Given the description of an element on the screen output the (x, y) to click on. 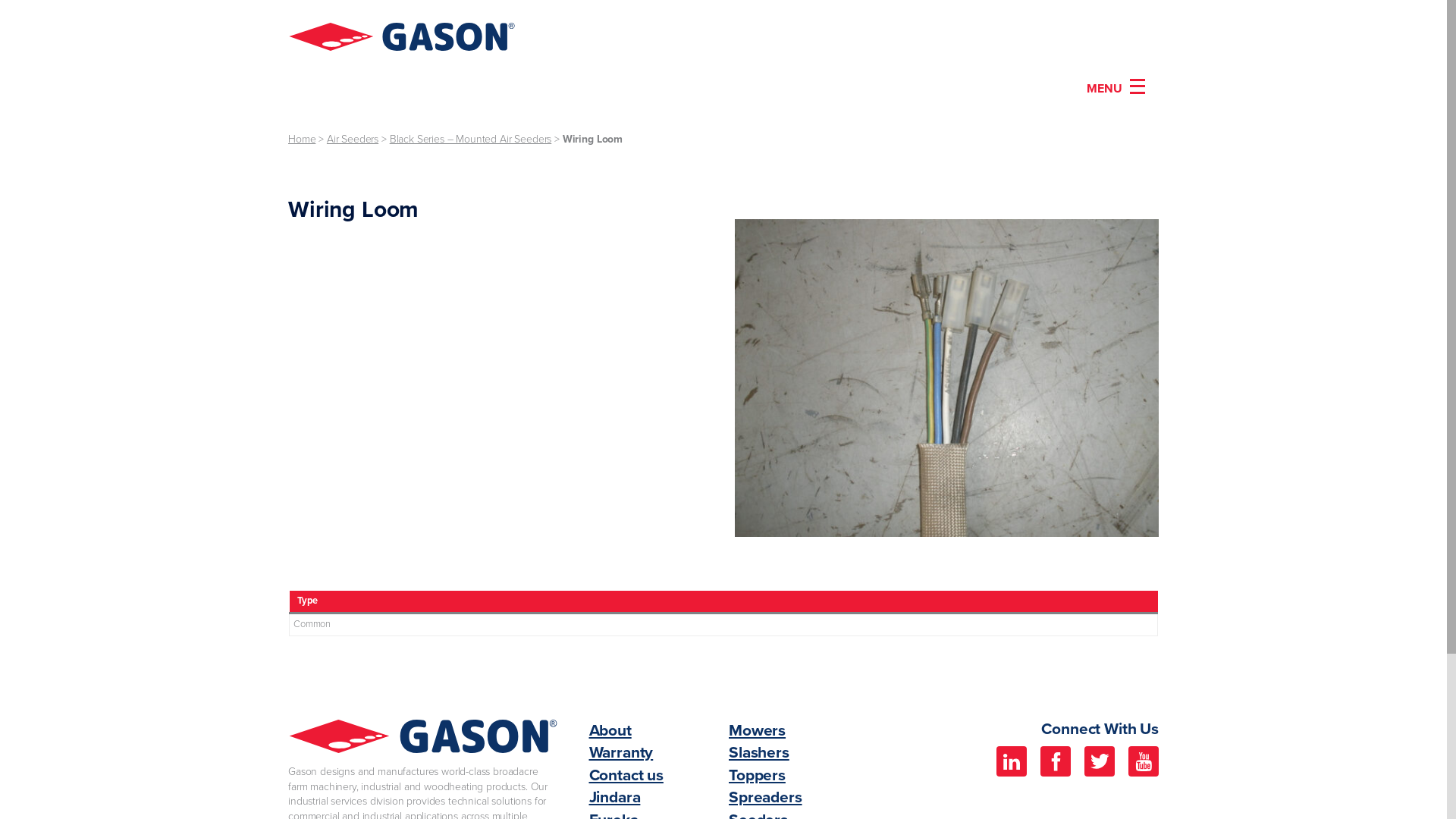
Spreaders Element type: text (765, 796)
Jindara Element type: text (614, 796)
Toppers Element type: text (756, 774)
Warranty Element type: text (620, 752)
WIRING LOOM Element type: hover (946, 377)
Follow us on Twitter Element type: hover (1099, 761)
Follow us on Linked In Element type: hover (1011, 761)
Like us on Facebook Element type: hover (1055, 761)
Home Element type: text (301, 138)
About Element type: text (609, 730)
Air Seeders Element type: text (352, 138)
MENU Element type: text (1115, 87)
Slashers Element type: text (758, 752)
Subscribe to our YouTube Channel Element type: hover (1143, 761)
Contact us Element type: text (625, 774)
Mowers Element type: text (756, 730)
Go To Homepage Element type: hover (401, 38)
